Given the description of an element on the screen output the (x, y) to click on. 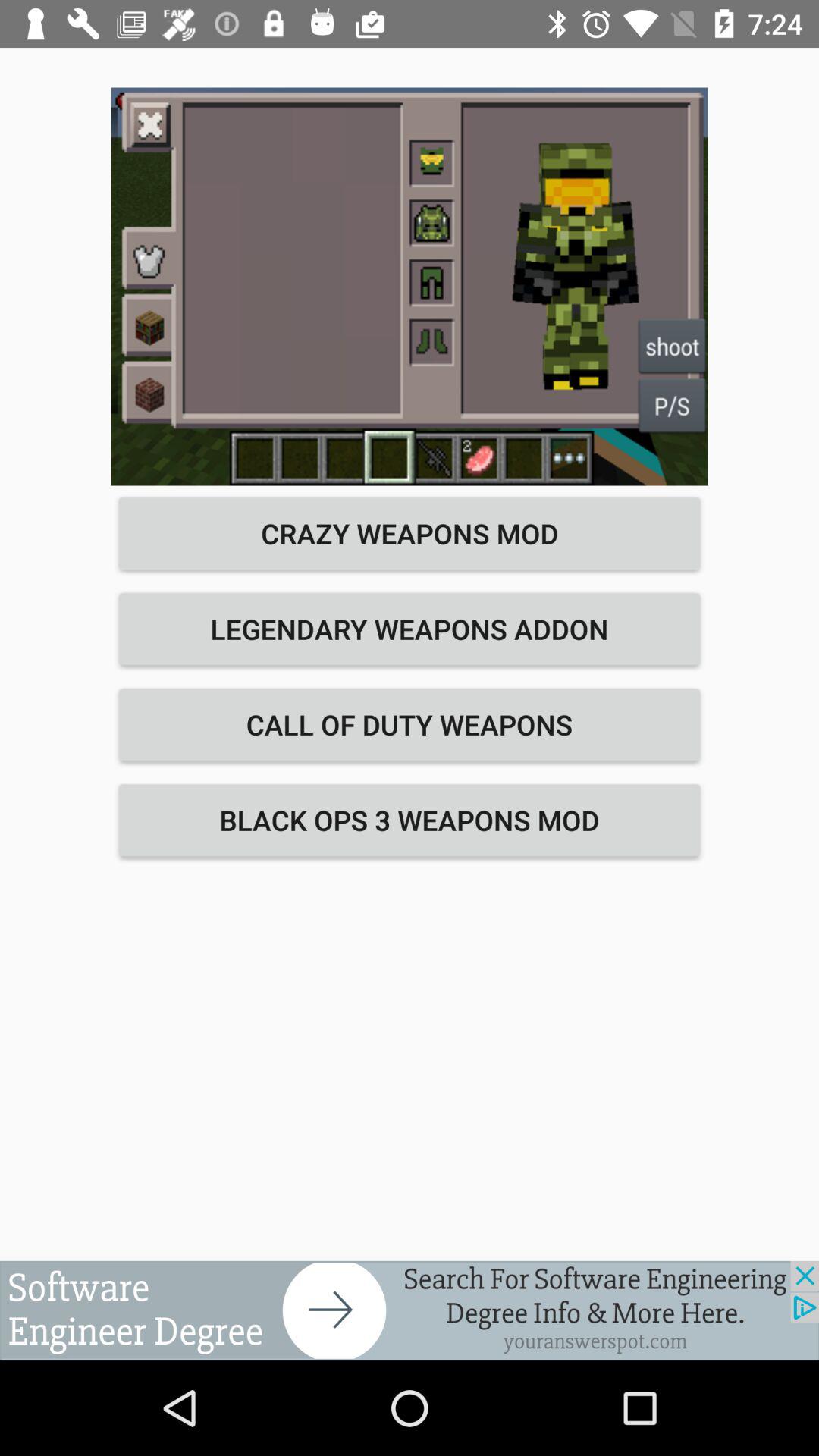
open advertisement (409, 1310)
